Given the description of an element on the screen output the (x, y) to click on. 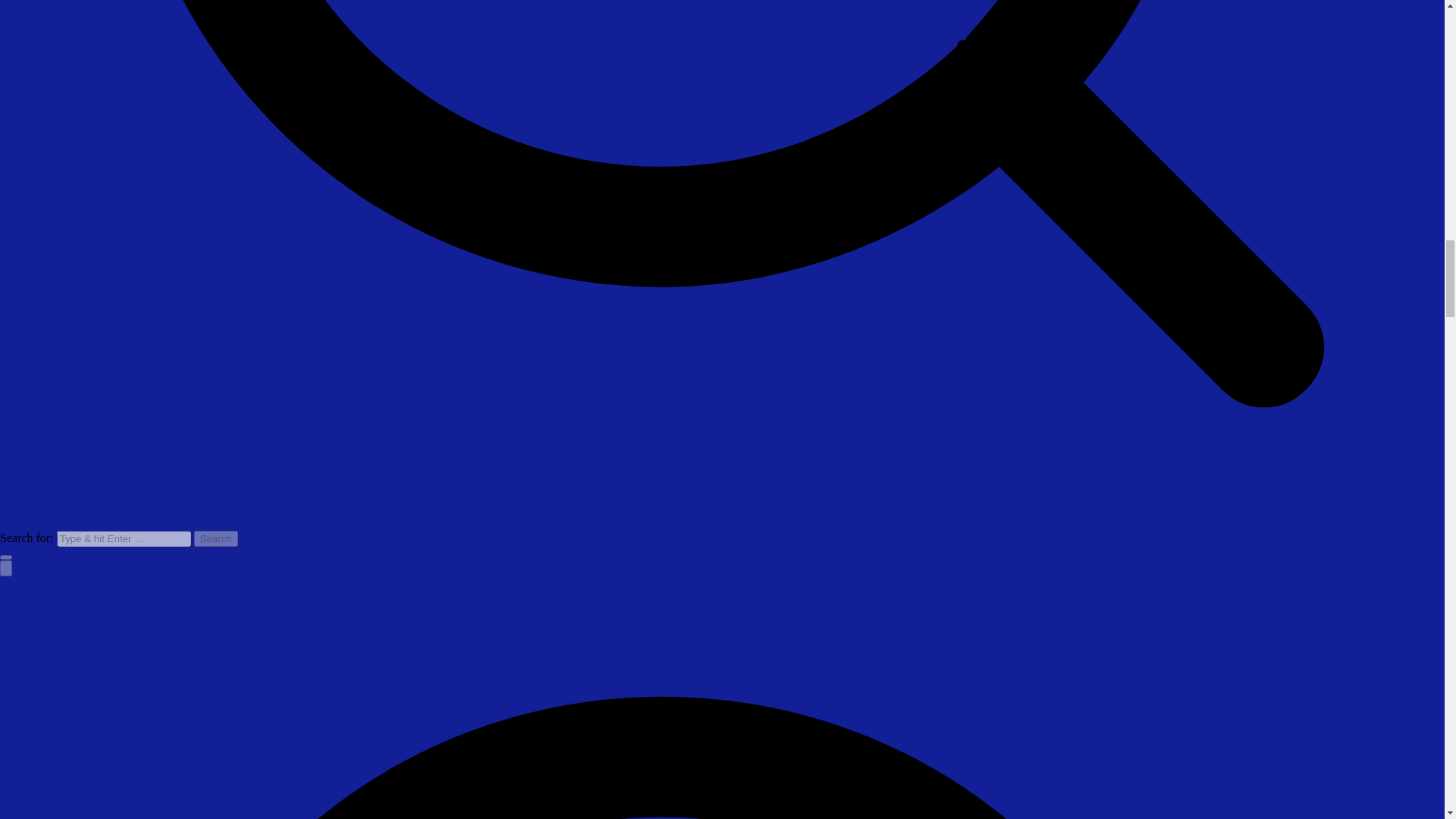
Search (215, 538)
Search (215, 538)
Search (215, 538)
Search for: (123, 538)
